Given the description of an element on the screen output the (x, y) to click on. 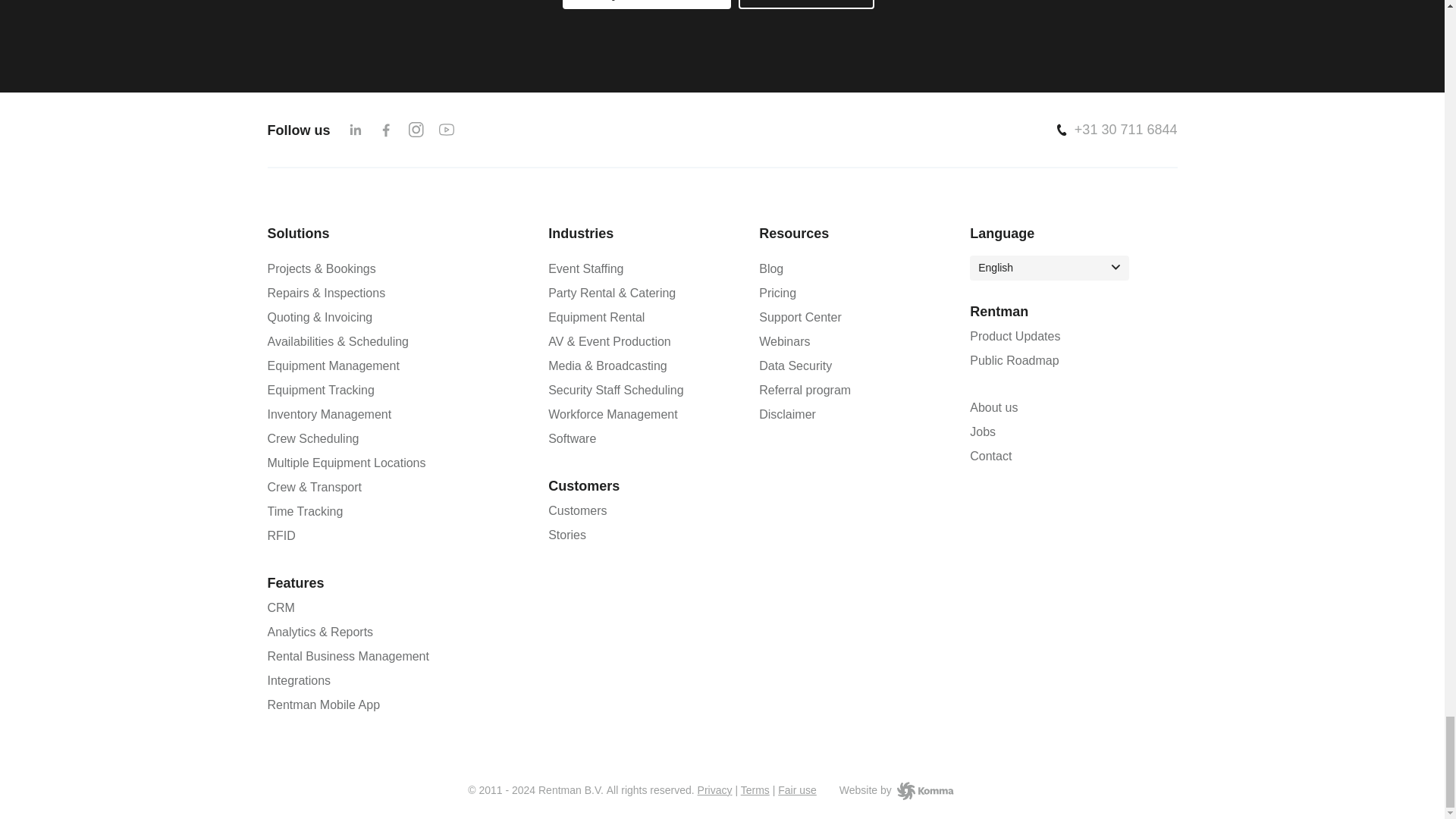
facebook (385, 129)
instagram (416, 129)
youtube (446, 129)
linkedin (355, 129)
